Given the description of an element on the screen output the (x, y) to click on. 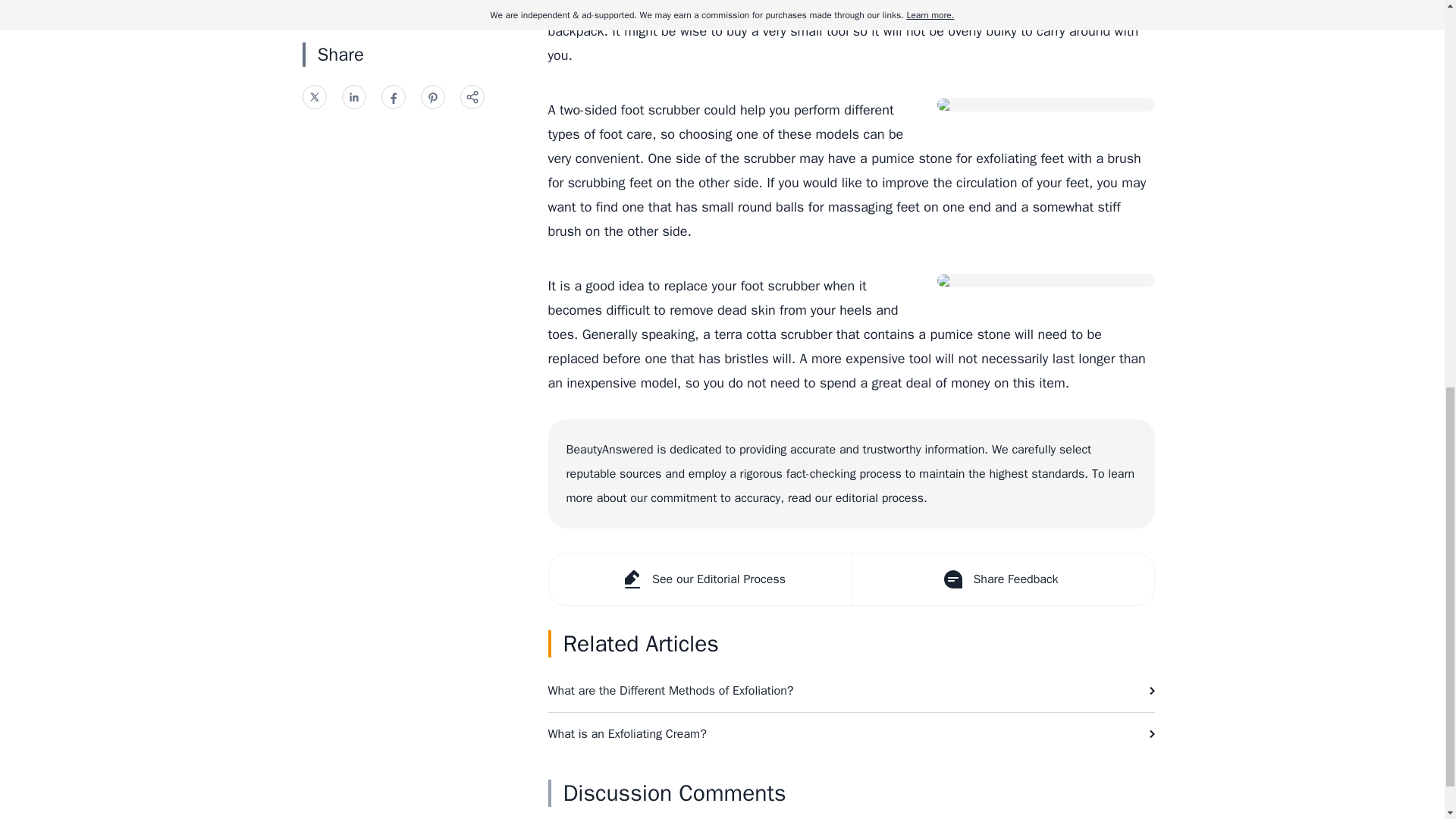
What is an Exfoliating Cream? (850, 733)
See our Editorial Process (699, 579)
Share Feedback (1001, 579)
What are the Different Methods of Exfoliation? (850, 690)
